Given the description of an element on the screen output the (x, y) to click on. 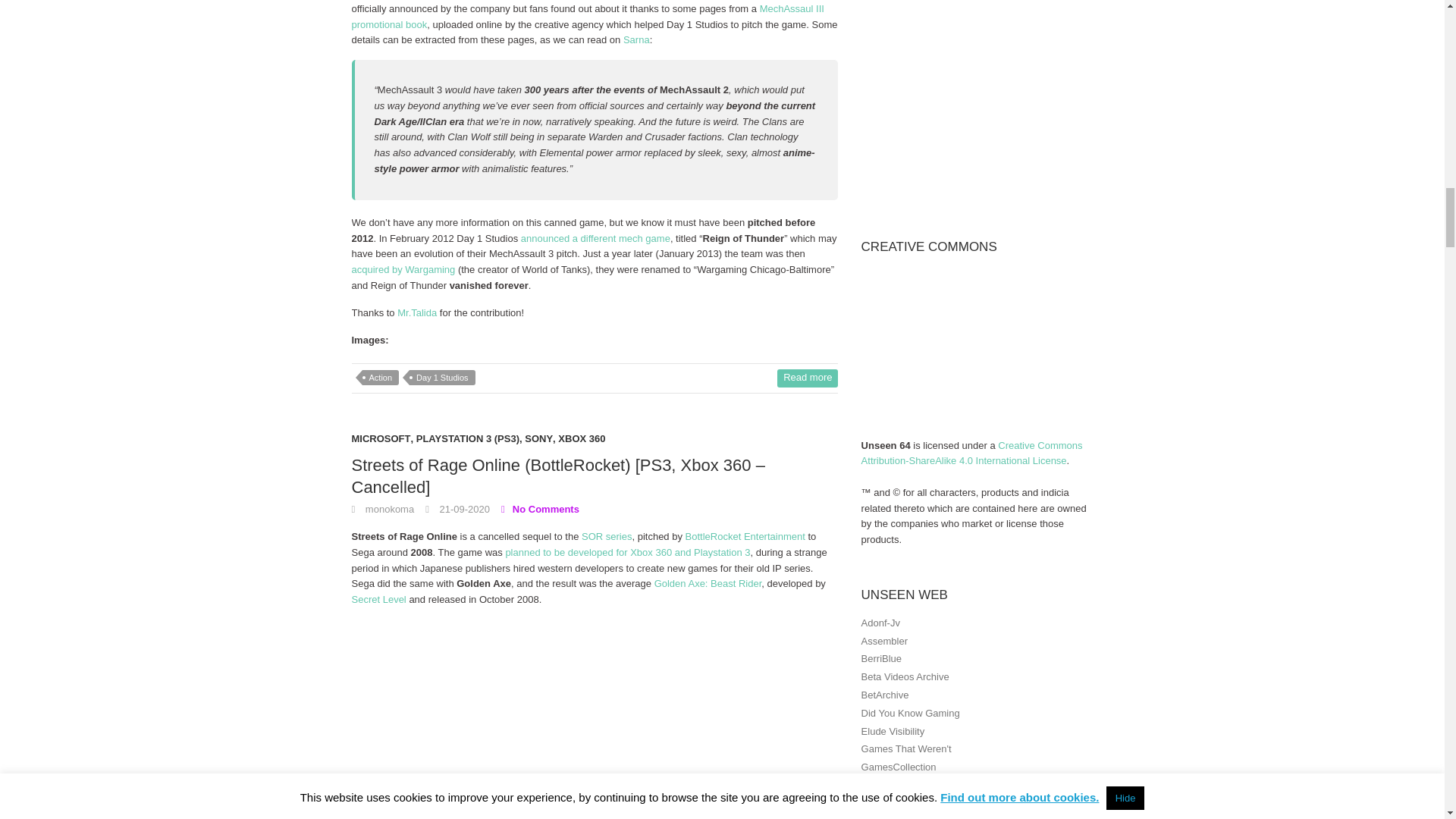
11:34 (457, 509)
